Given the description of an element on the screen output the (x, y) to click on. 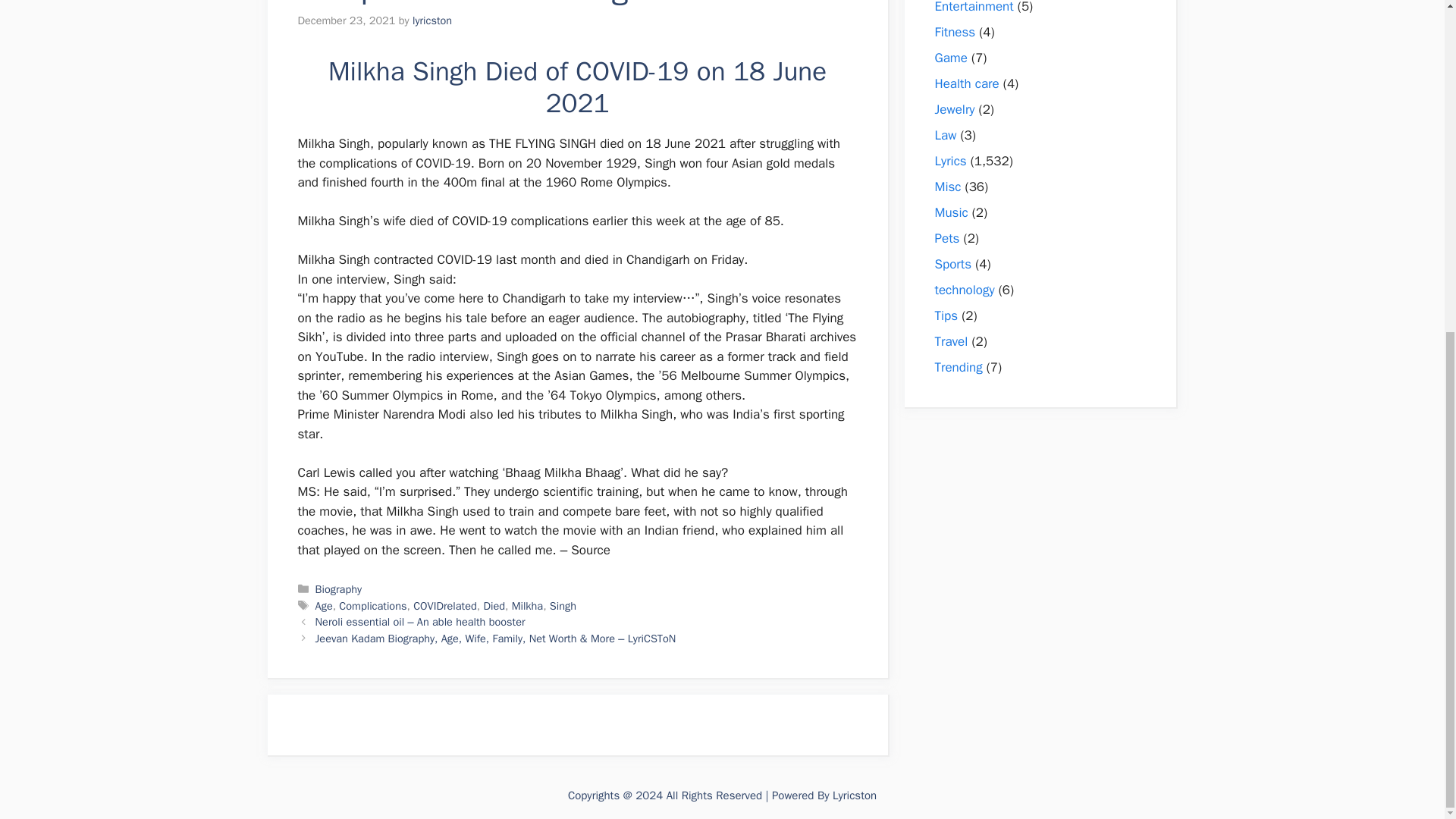
COVIDrelated (445, 605)
Died (494, 605)
Age (324, 605)
Complications (372, 605)
lyricston (431, 20)
Milkha (527, 605)
Biography (338, 589)
View all posts by lyricston (431, 20)
Singh (563, 605)
